Given the description of an element on the screen output the (x, y) to click on. 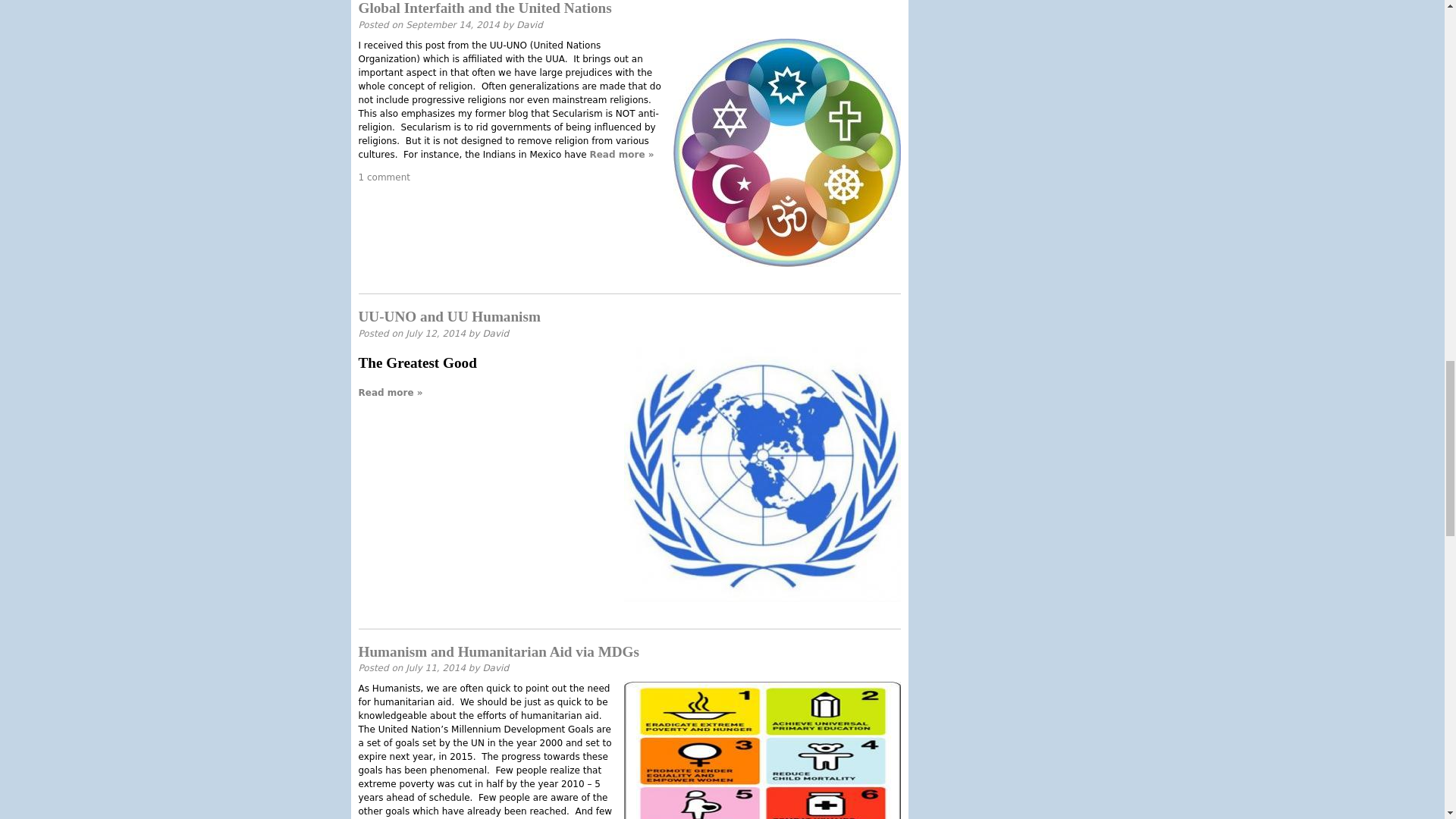
UU-UNO and UU Humanism (449, 316)
Millennium Development Goals (761, 750)
1 comment (383, 176)
Global Interfaith and the United Nations (484, 7)
Interfaith (786, 152)
United Nations Flag (761, 474)
Humanism and Humanitarian Aid via MDGs (498, 651)
David (529, 24)
David (494, 333)
Jump to the first comment of this posting. (383, 176)
David (494, 667)
